Given the description of an element on the screen output the (x, y) to click on. 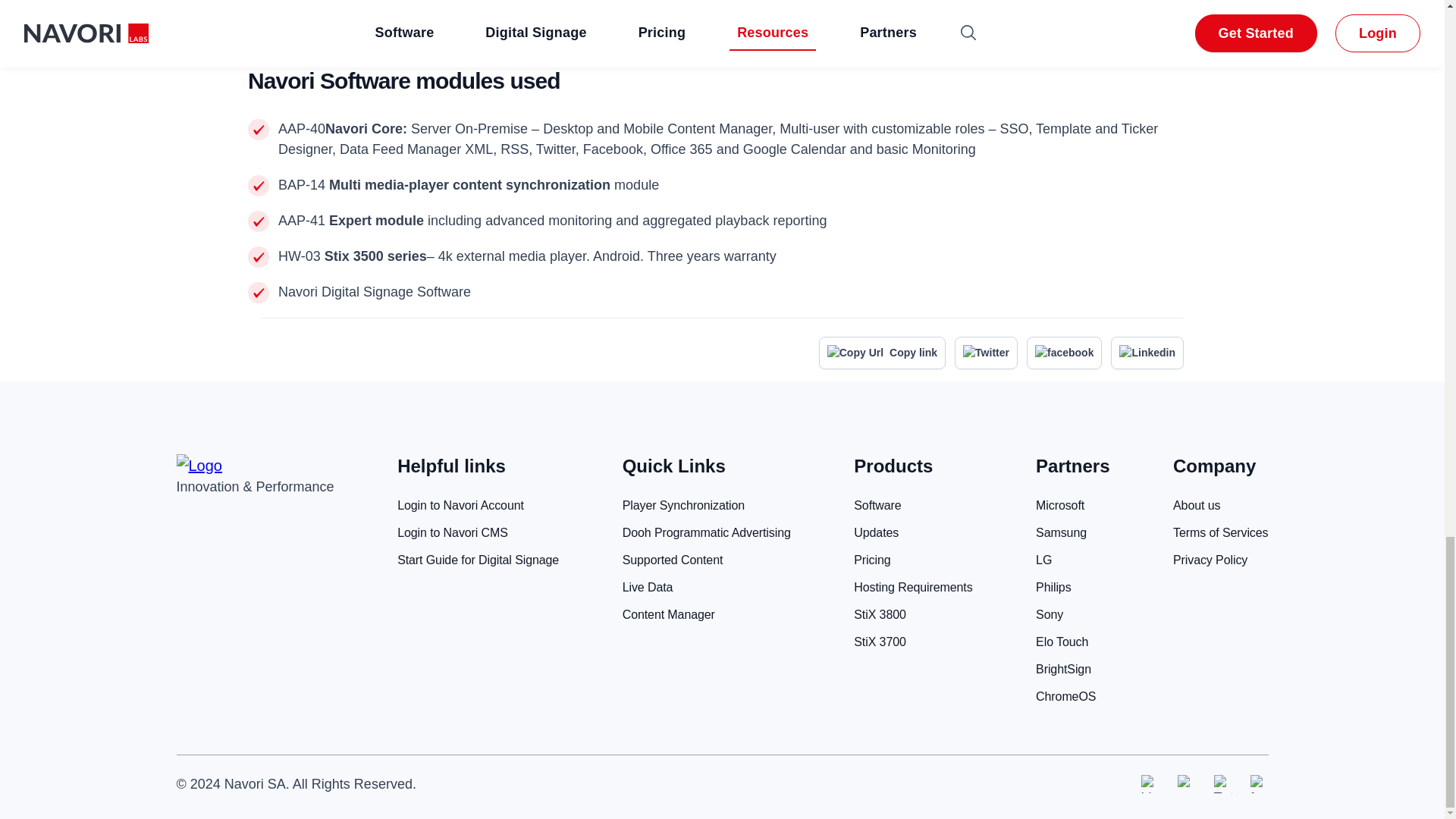
copy page url (881, 352)
share page on twitter (986, 352)
share page on facebook (1064, 352)
share page on linkedin (1146, 352)
